Given the description of an element on the screen output the (x, y) to click on. 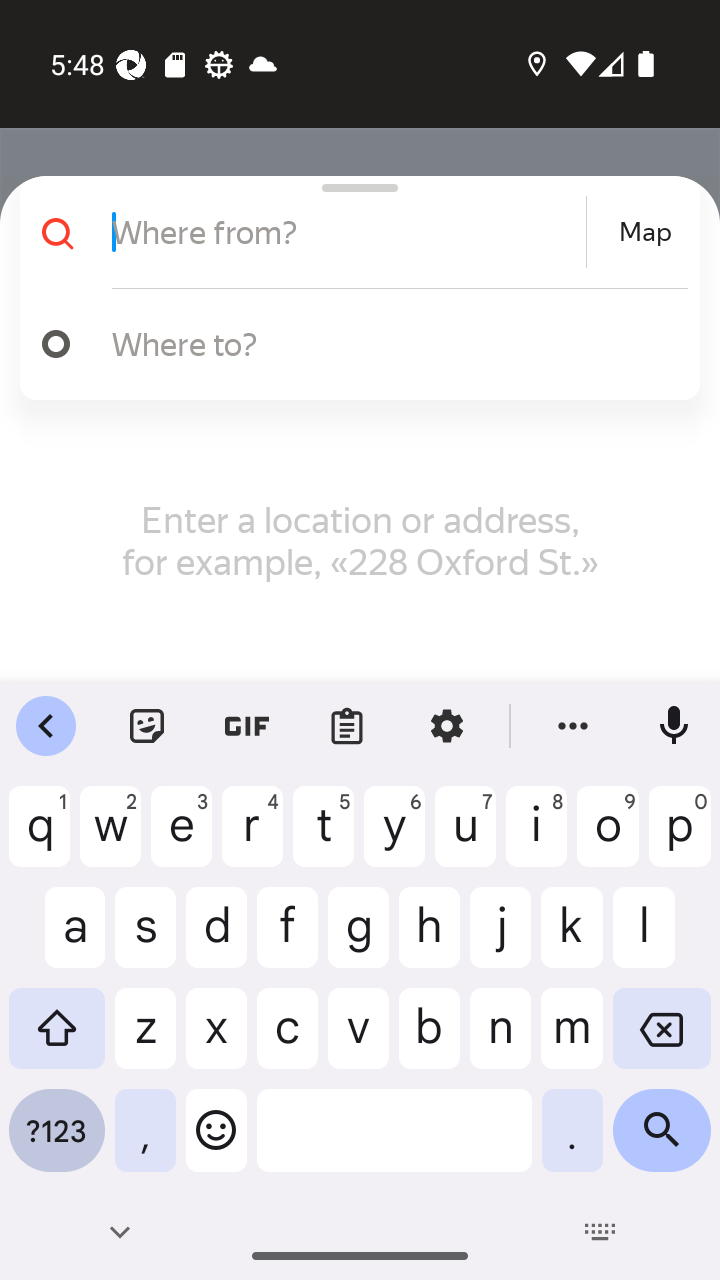
Where from? Map Map (352, 232)
Map (645, 232)
Where from? (346, 232)
Where to? (352, 343)
Where to? (390, 343)
